Given the description of an element on the screen output the (x, y) to click on. 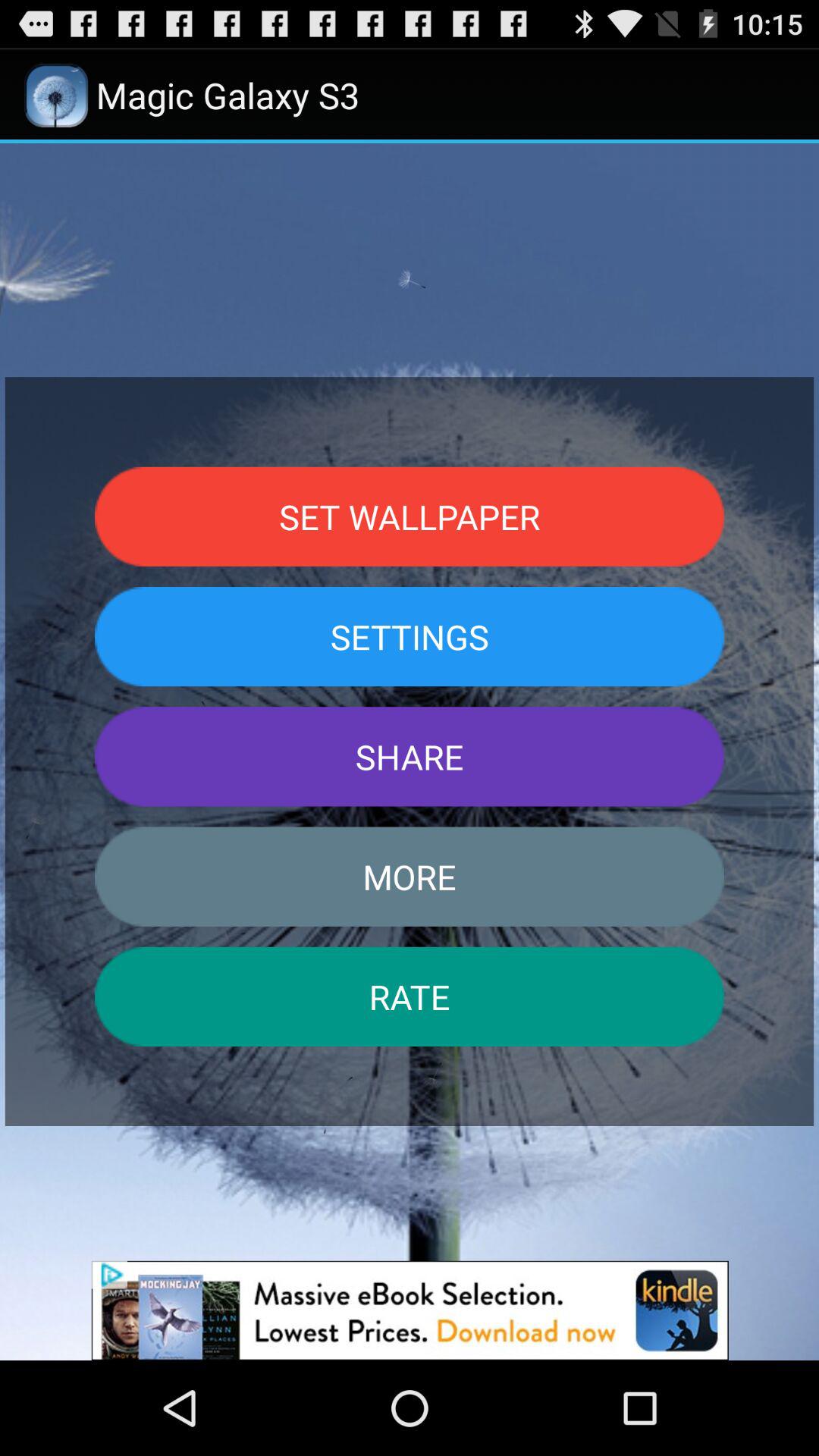
launch rate (409, 996)
